Given the description of an element on the screen output the (x, y) to click on. 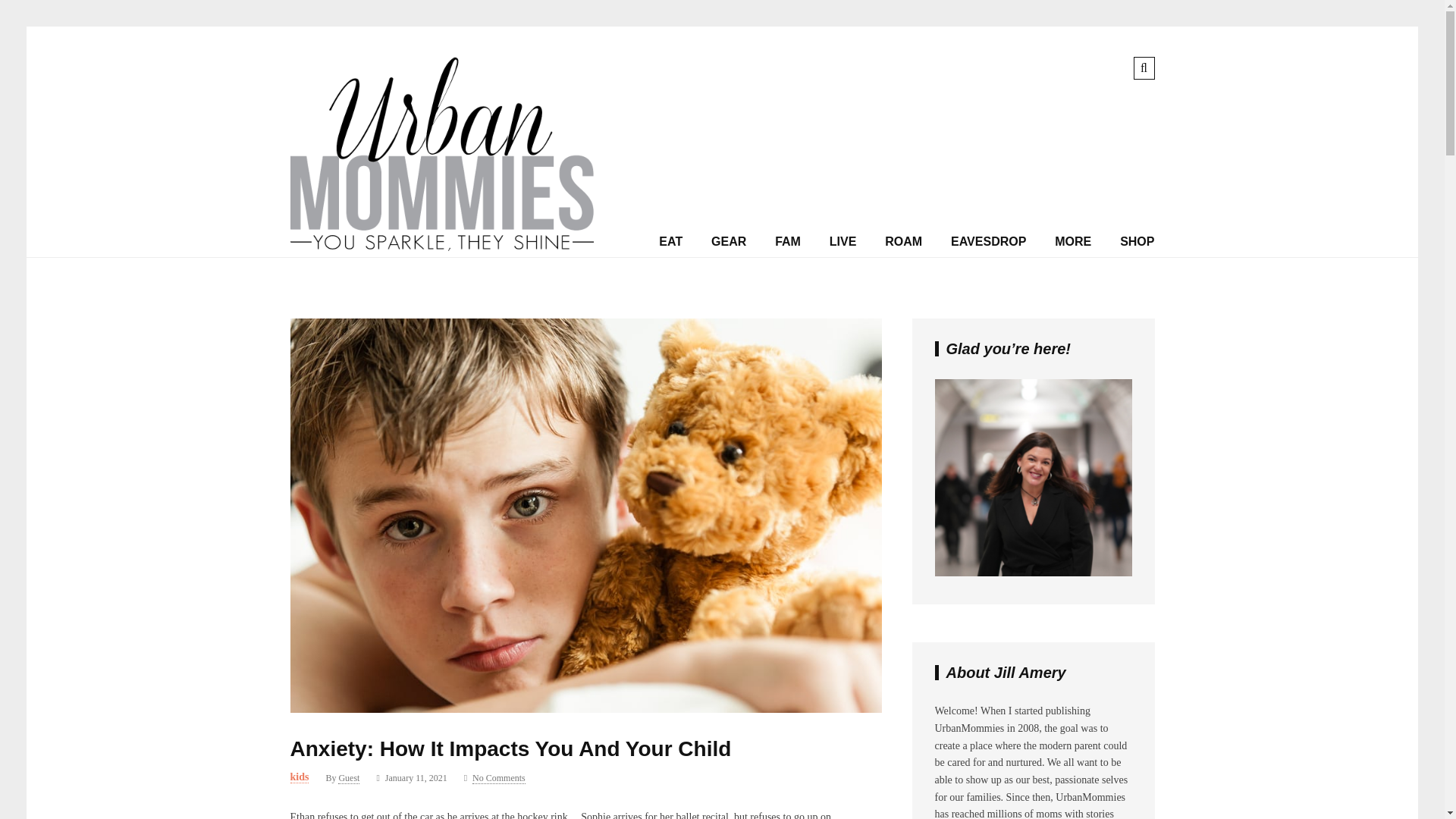
GEAR (728, 241)
Urban Mommies (440, 247)
MORE (1072, 241)
Posts by Guest (348, 778)
EAVESDROP (988, 241)
LIVE (843, 241)
ROAM (903, 241)
